Given the description of an element on the screen output the (x, y) to click on. 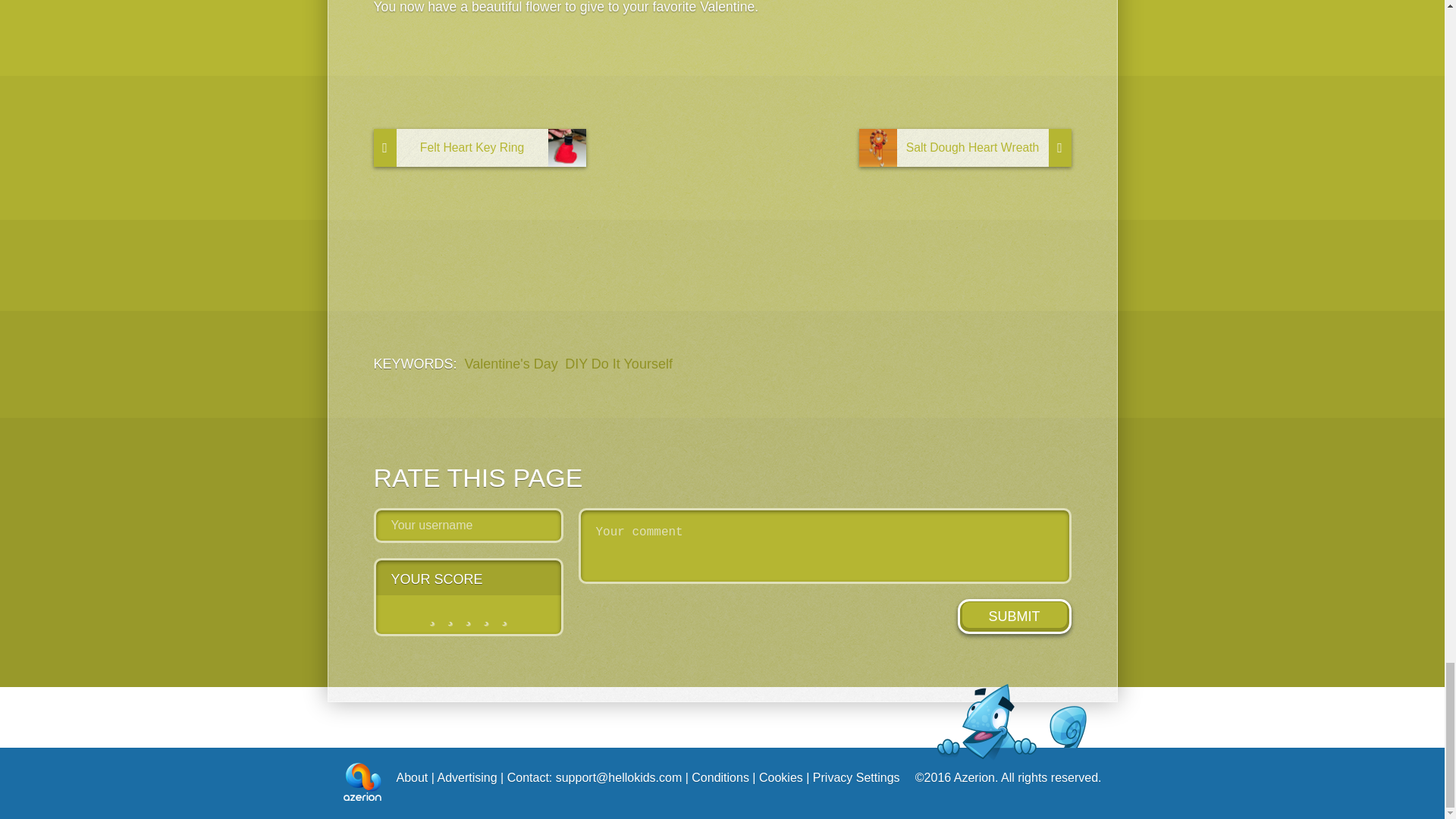
Felt Heart Key Ring (478, 147)
Salt Dough Heart Wreath (964, 147)
Advertising (466, 777)
Azerion logo (361, 781)
next : Homemade Valentine's Day gift ideas (964, 147)
Cookies (780, 777)
Submit (1013, 615)
Footer Mascotte (1011, 721)
Valentine'S Day (510, 364)
Conditions (720, 777)
DIY Do It Yourself (618, 364)
previous : Homemade Valentine's Day gift ideas (478, 147)
About (412, 777)
Submit (1013, 615)
Azerion (361, 782)
